Given the description of an element on the screen output the (x, y) to click on. 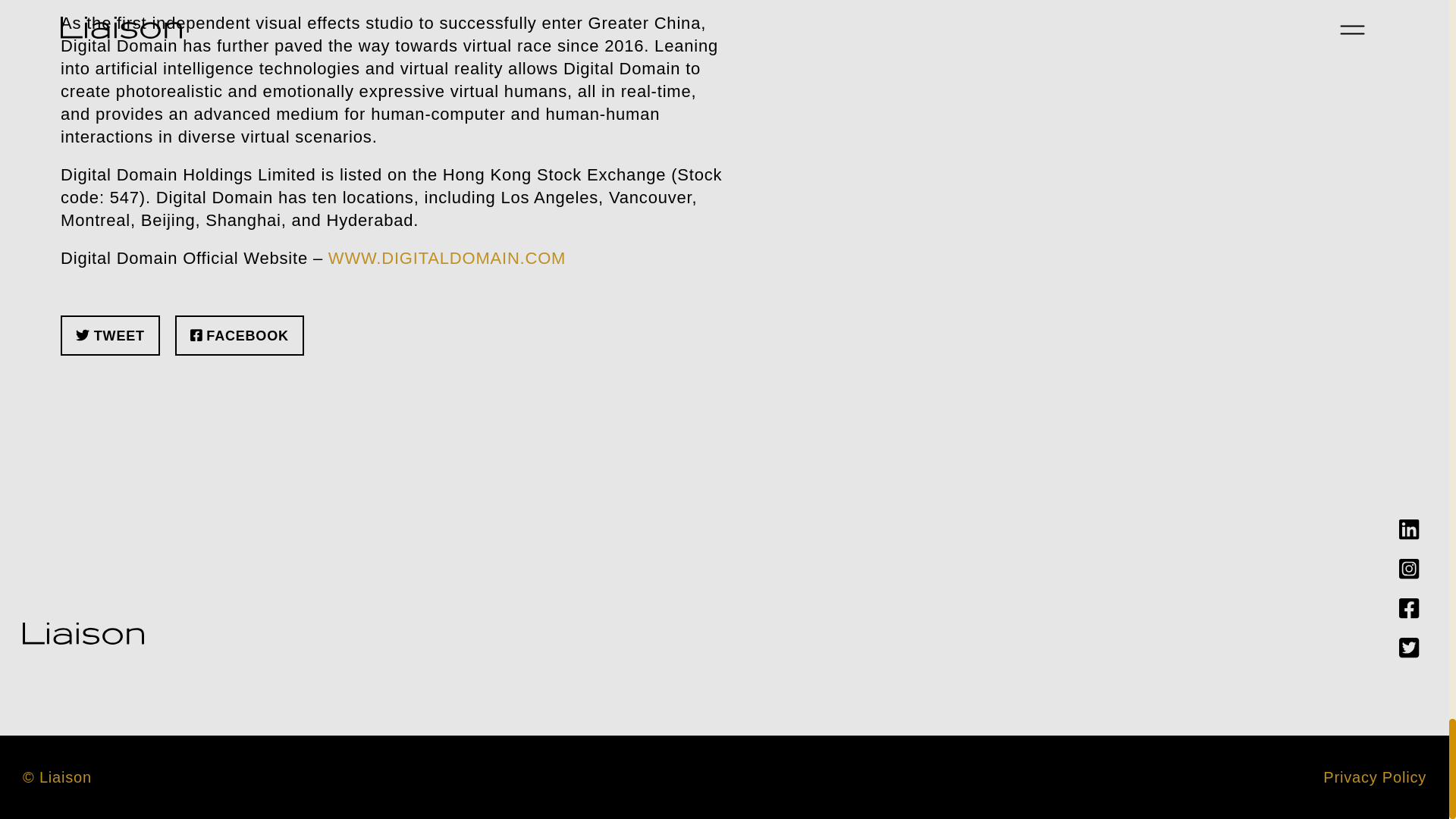
FACEBOOK (239, 335)
TWEET (110, 335)
WWW.DIGITALDOMAIN.COM (447, 257)
Privacy Policy (1374, 777)
